Given the description of an element on the screen output the (x, y) to click on. 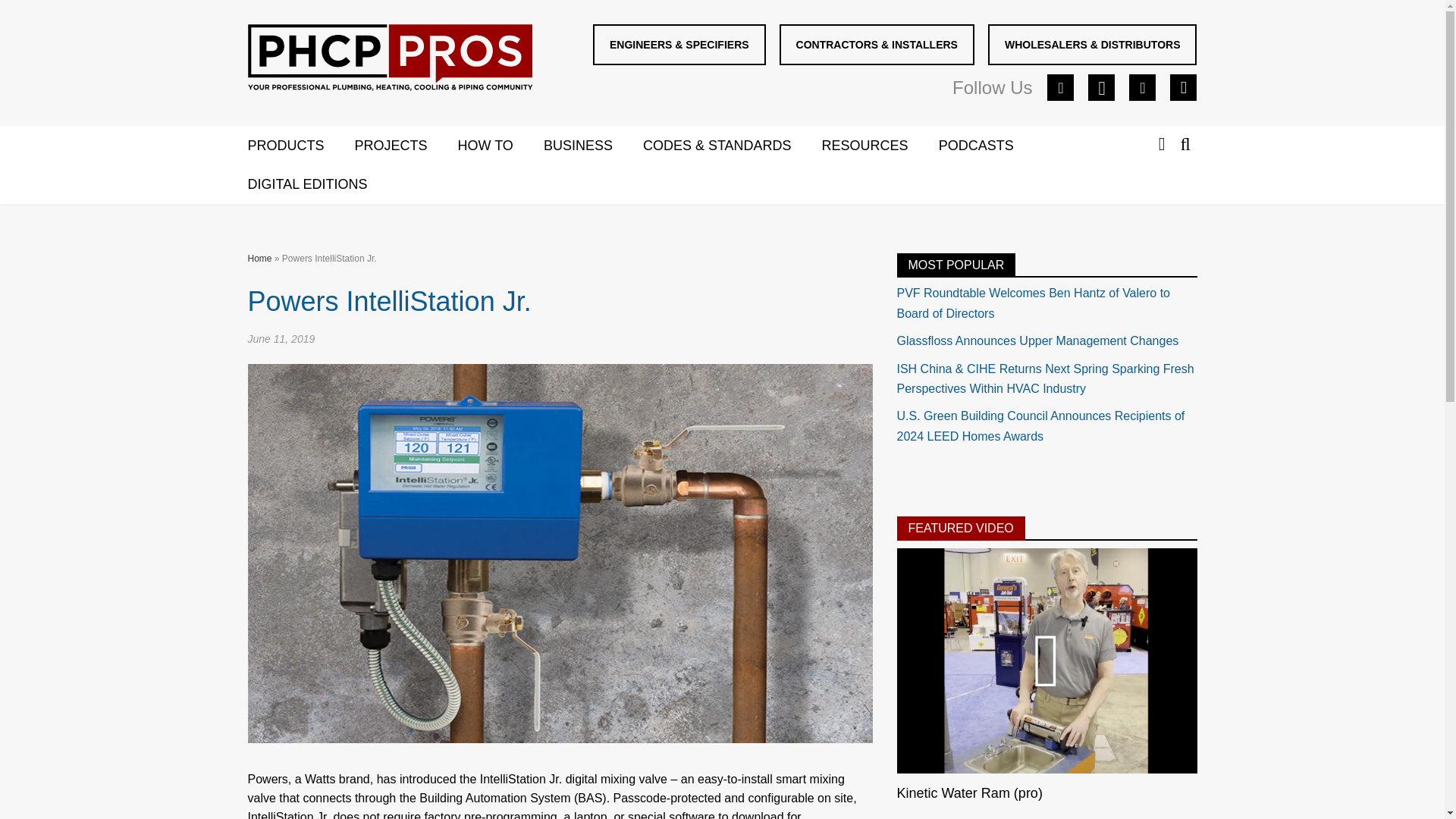
HOW TO (500, 146)
logo (389, 57)
PRODUCTS (300, 146)
PROJECTS (406, 146)
logo (389, 60)
BUSINESS (593, 146)
